Given the description of an element on the screen output the (x, y) to click on. 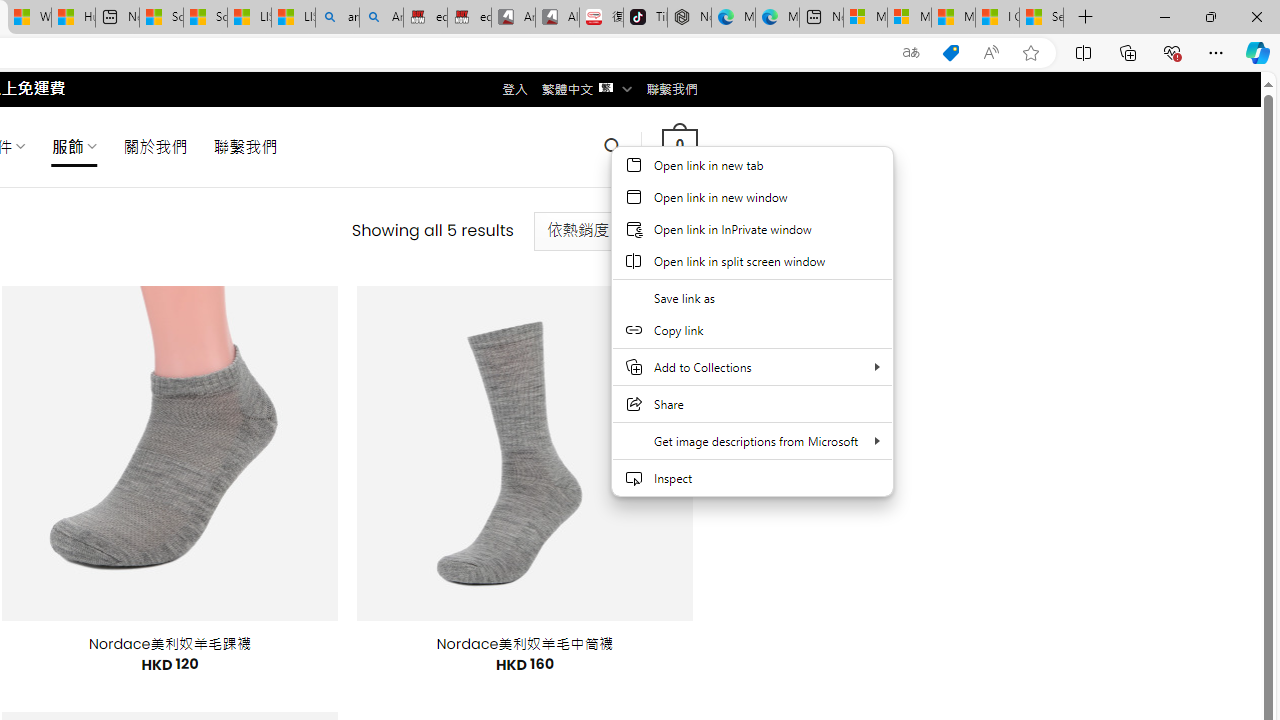
Share (752, 403)
Copy link (752, 329)
Inspect (752, 477)
Open link in InPrivate window (752, 228)
